Given the description of an element on the screen output the (x, y) to click on. 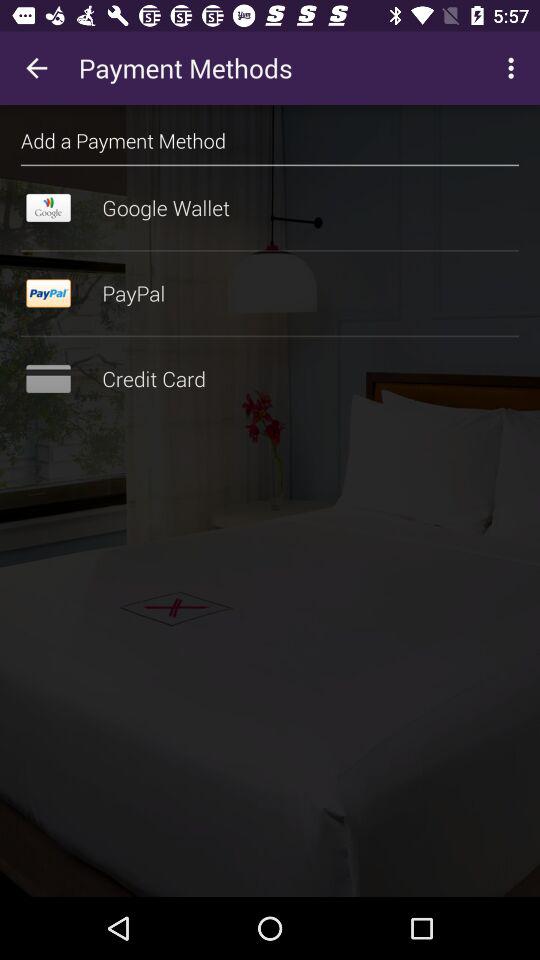
swipe to credit card item (270, 379)
